Given the description of an element on the screen output the (x, y) to click on. 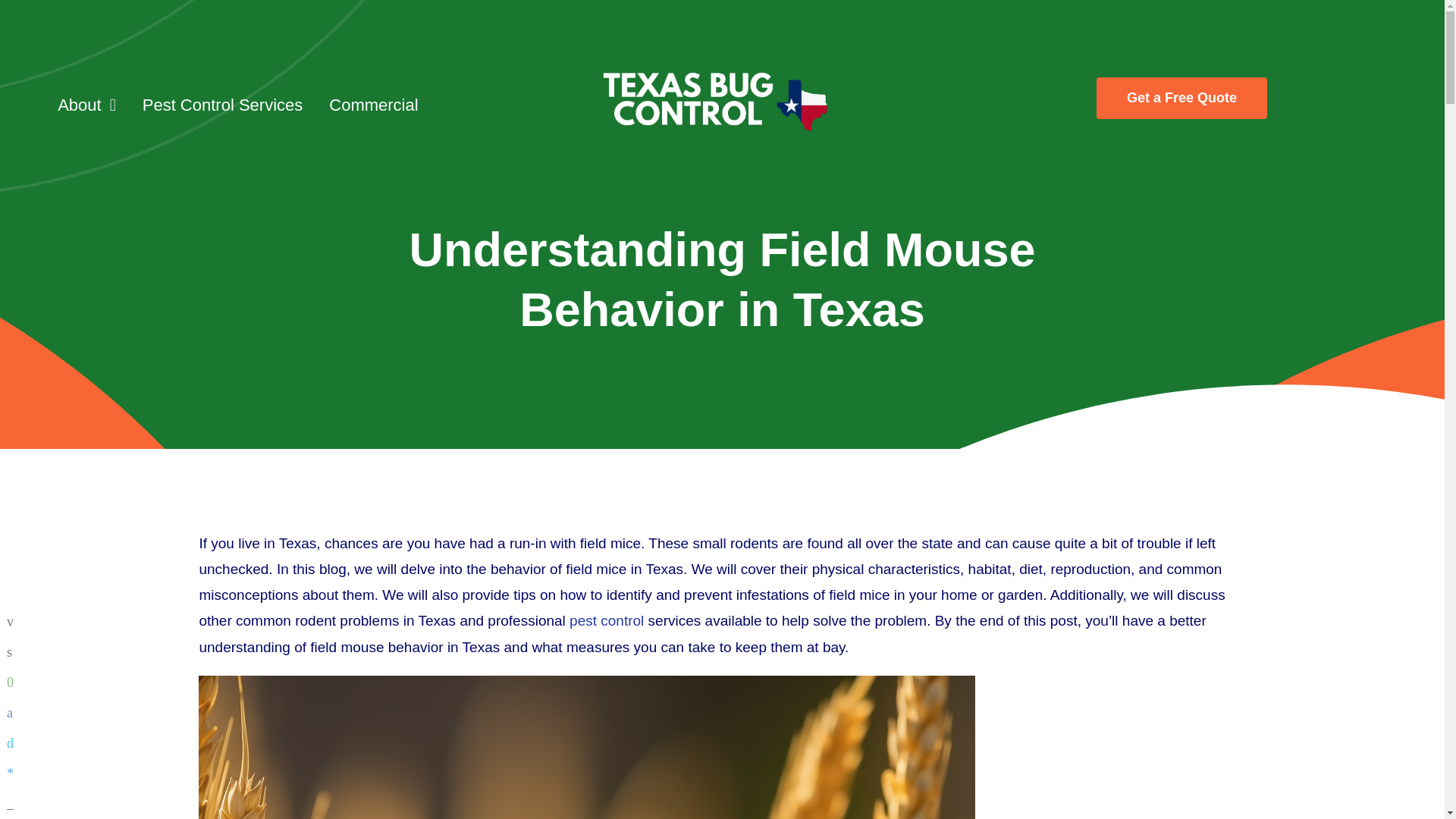
Share on Text Someone (13, 682)
Pest Control Services (222, 106)
pest control (606, 620)
Share on Facebook (13, 712)
Get a Free Quote (1181, 97)
pest control (606, 620)
Commercial (373, 106)
Share on Email (13, 621)
Share on Messenger (13, 773)
About (87, 106)
Share on Print (13, 651)
Share on Twitter (13, 742)
